Given the description of an element on the screen output the (x, y) to click on. 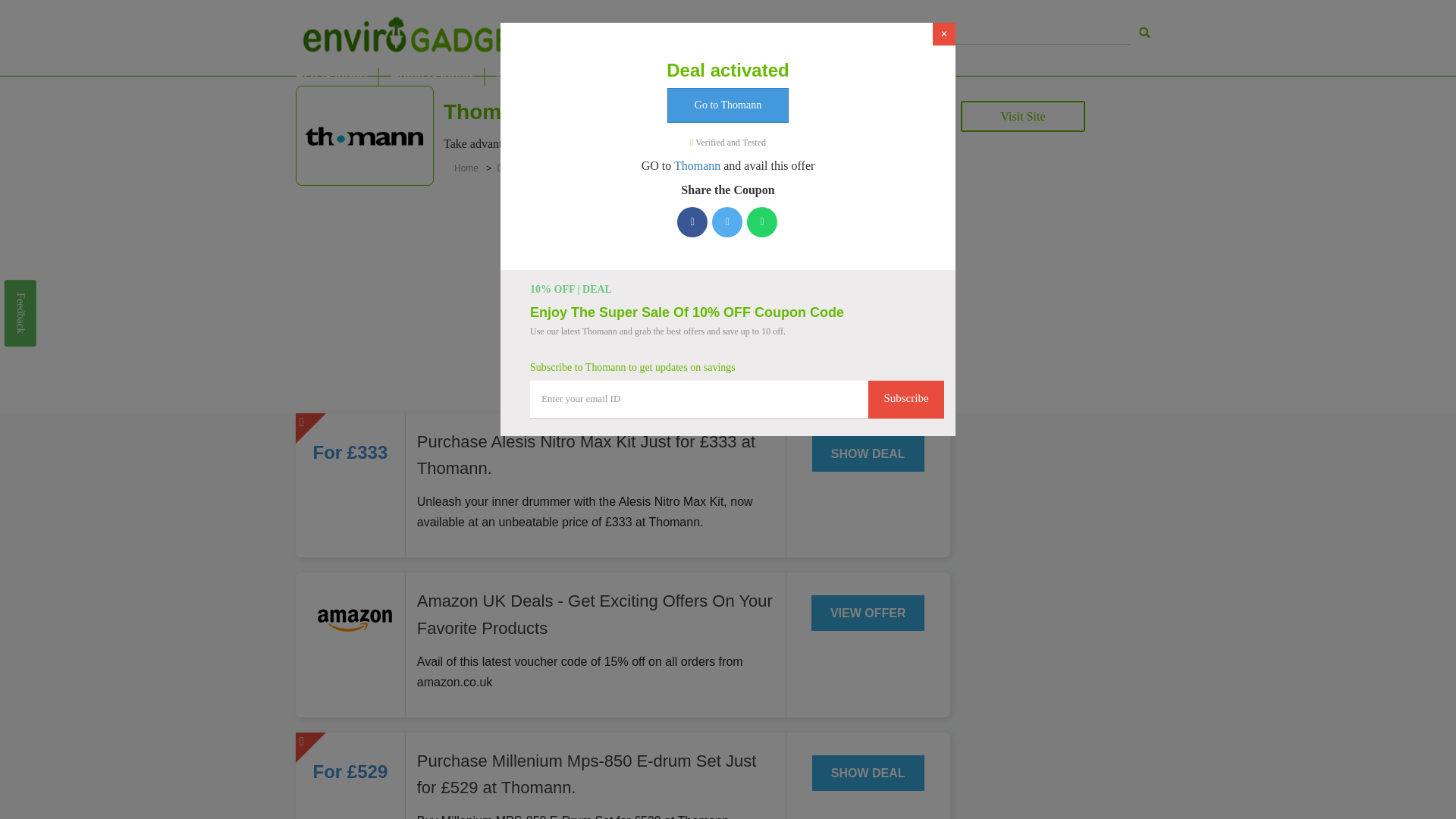
Close (944, 33)
VIEW OFFER (867, 612)
EnviroGadget - Gadgets for the eco-warrior (1144, 32)
Visit Site (1022, 115)
Home Gadgets (433, 75)
Thomann (642, 143)
Deals (510, 167)
Blog (715, 75)
EnviroGadget - Gadgets for the eco-warrior (415, 34)
Go Green (653, 75)
Home (468, 167)
SHOW DEAL (868, 773)
SHOW DEAL (868, 453)
Computer Gadgets (550, 75)
